Given the description of an element on the screen output the (x, y) to click on. 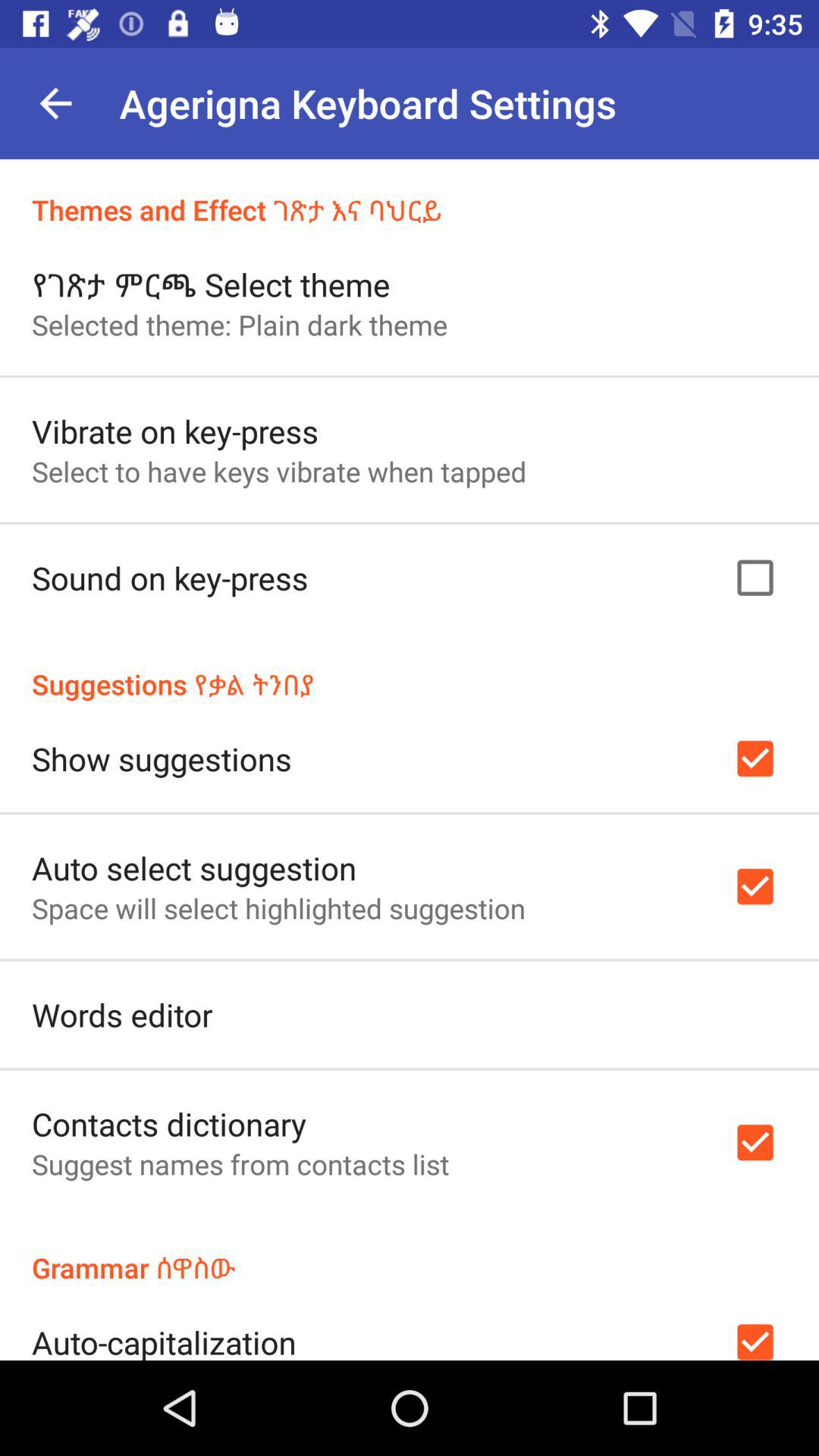
press the words editor (121, 1014)
